Given the description of an element on the screen output the (x, y) to click on. 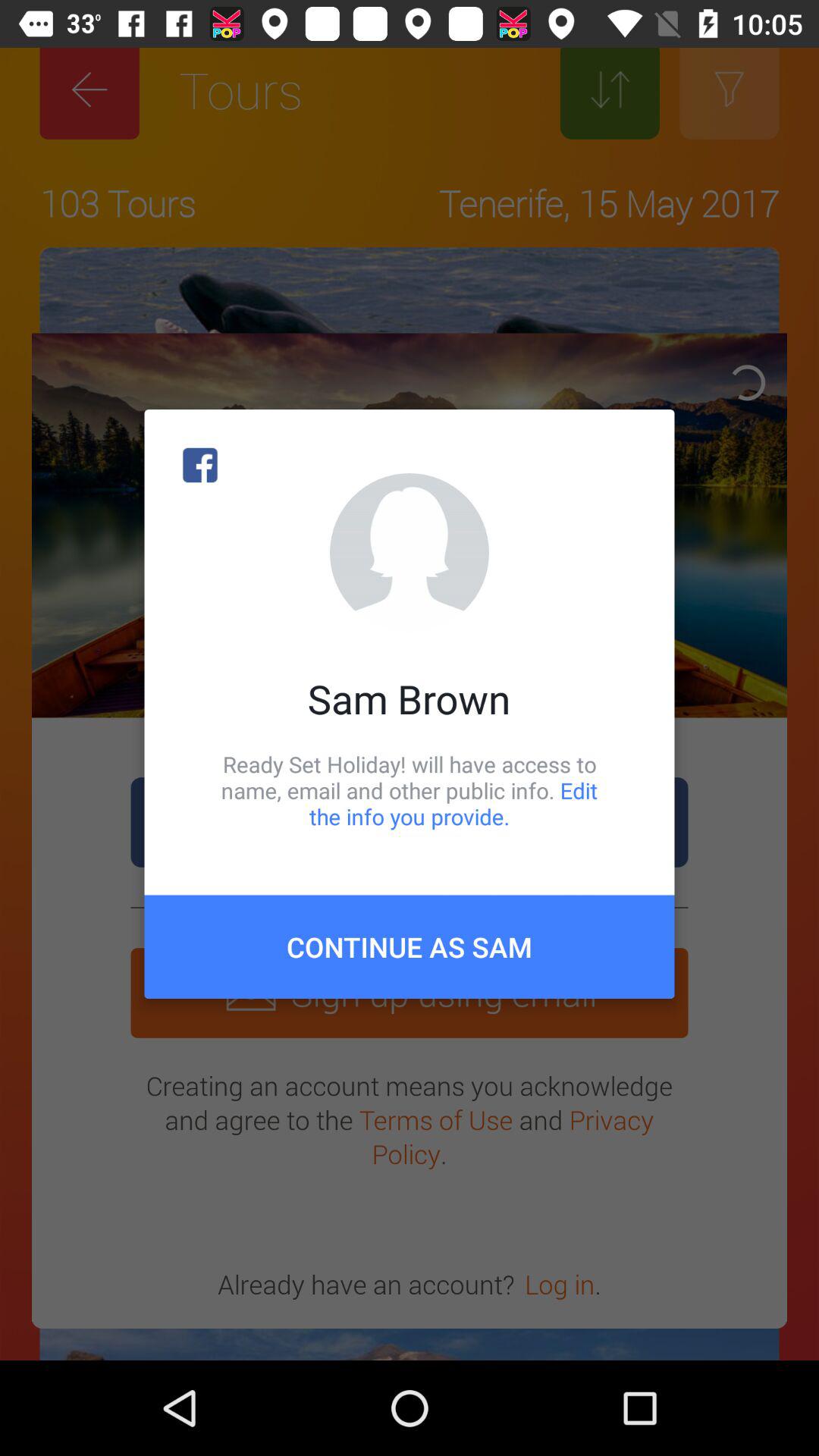
tap the continue as sam (409, 946)
